Given the description of an element on the screen output the (x, y) to click on. 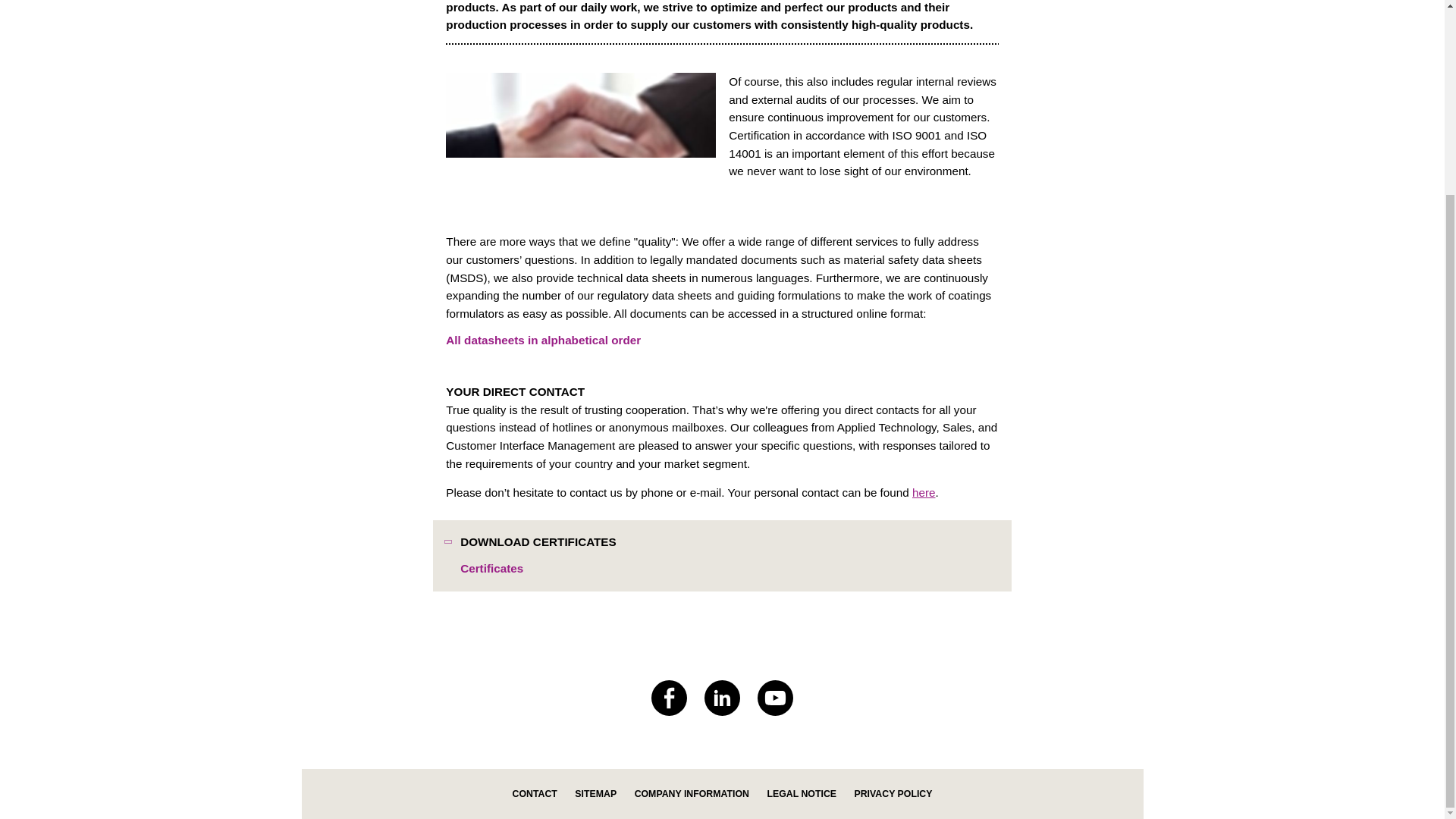
CONTACT (534, 793)
Certificates (491, 568)
here (924, 492)
PRIVACY POLICY (892, 793)
LEGAL NOTICE (801, 793)
COMPANY INFORMATION (691, 793)
SITEMAP (595, 793)
All datasheets in alphabetical order (542, 340)
